Given the description of an element on the screen output the (x, y) to click on. 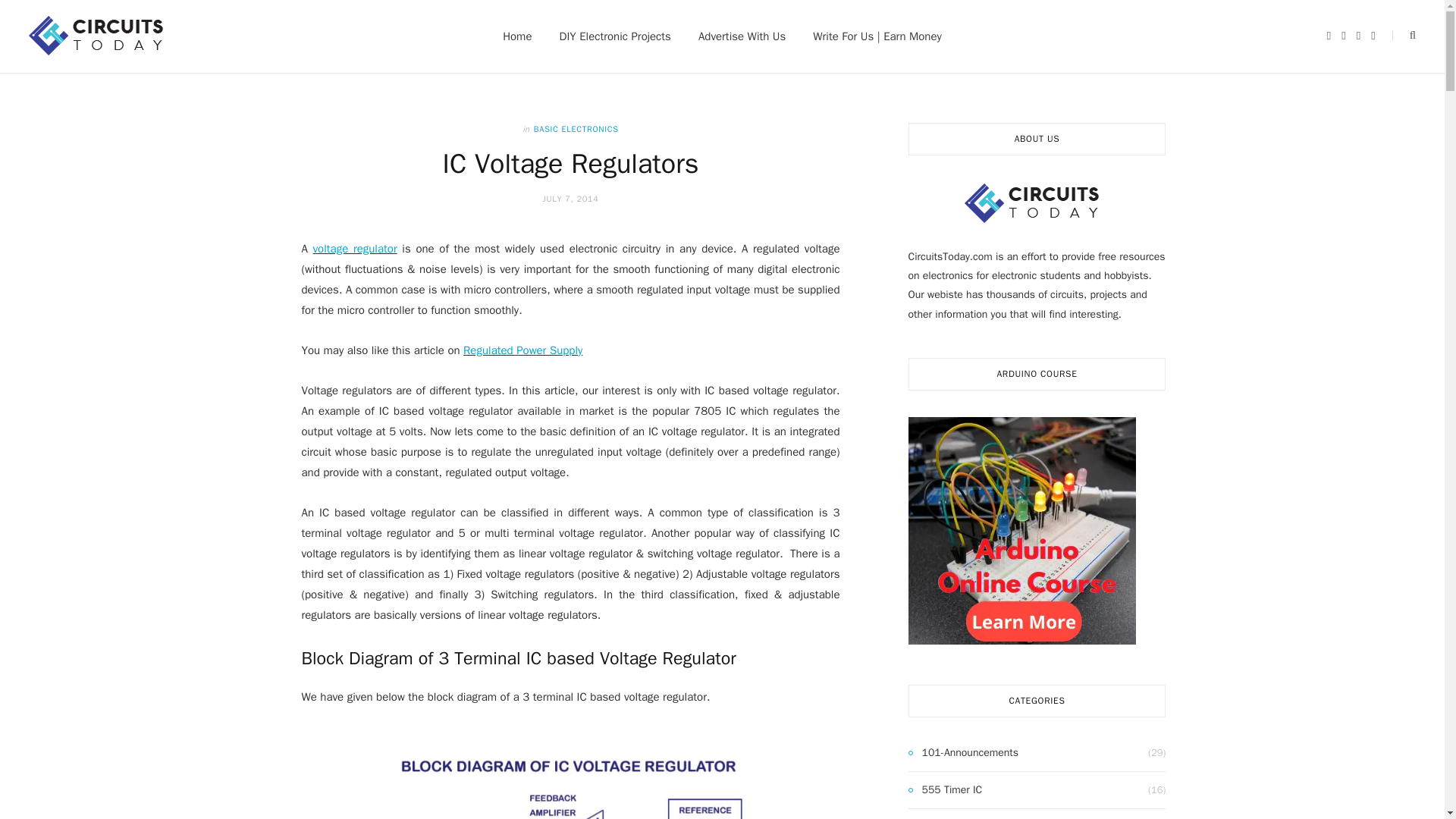
DIY Electronic Projects (615, 36)
JULY 7, 2014 (570, 198)
BASIC ELECTRONICS (576, 128)
Regulated Power Supply (522, 350)
voltage regulator (355, 248)
Voltage Regulators (355, 248)
Regulated Power Supply (522, 350)
Advertise With Us (741, 36)
